Given the description of an element on the screen output the (x, y) to click on. 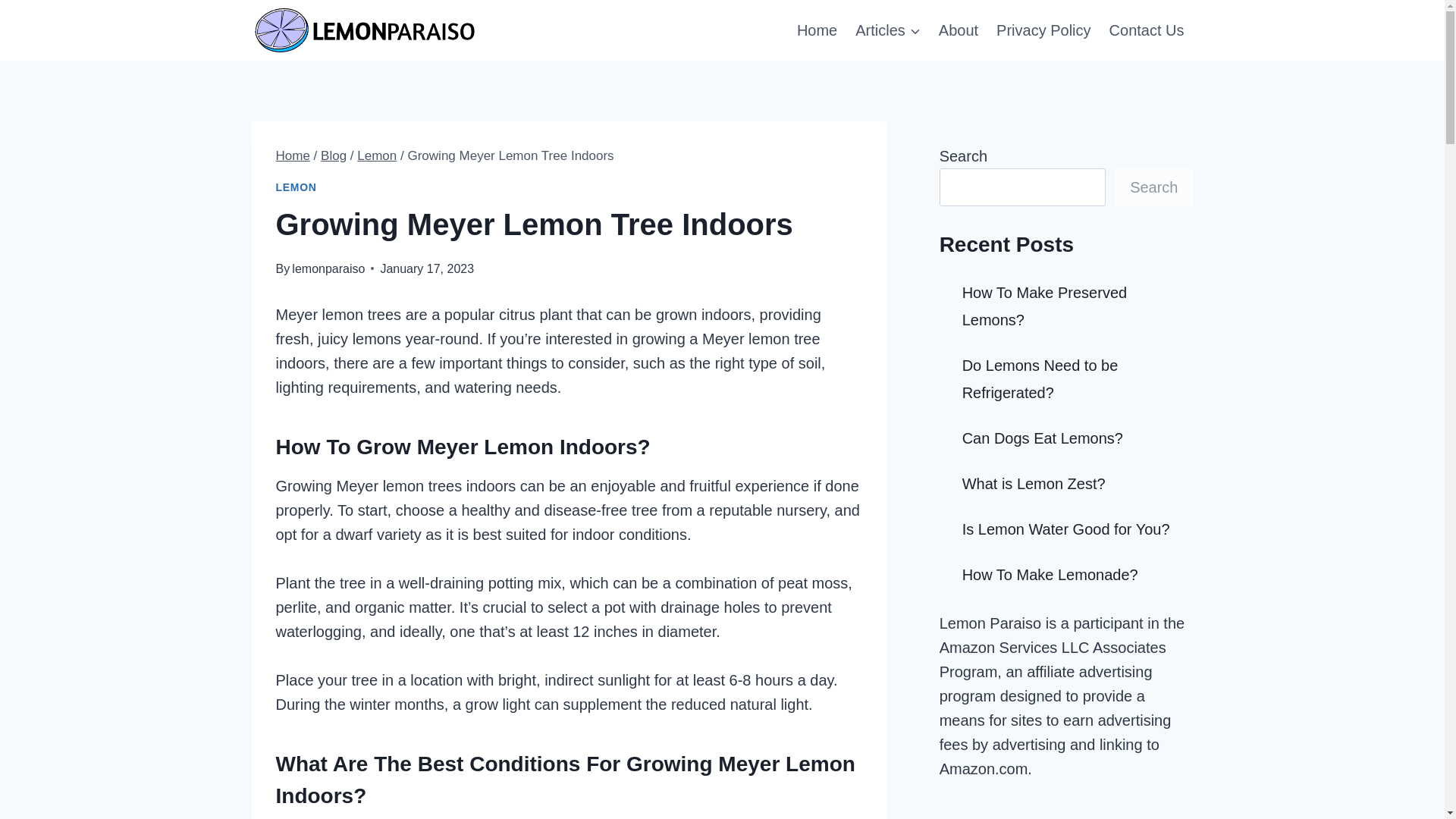
Blog (333, 155)
About (958, 30)
LEMON (296, 186)
Lemon (376, 155)
Privacy Policy (1043, 30)
Home (293, 155)
Contact Us (1146, 30)
Articles (887, 30)
Home (816, 30)
lemonparaiso (328, 268)
